Given the description of an element on the screen output the (x, y) to click on. 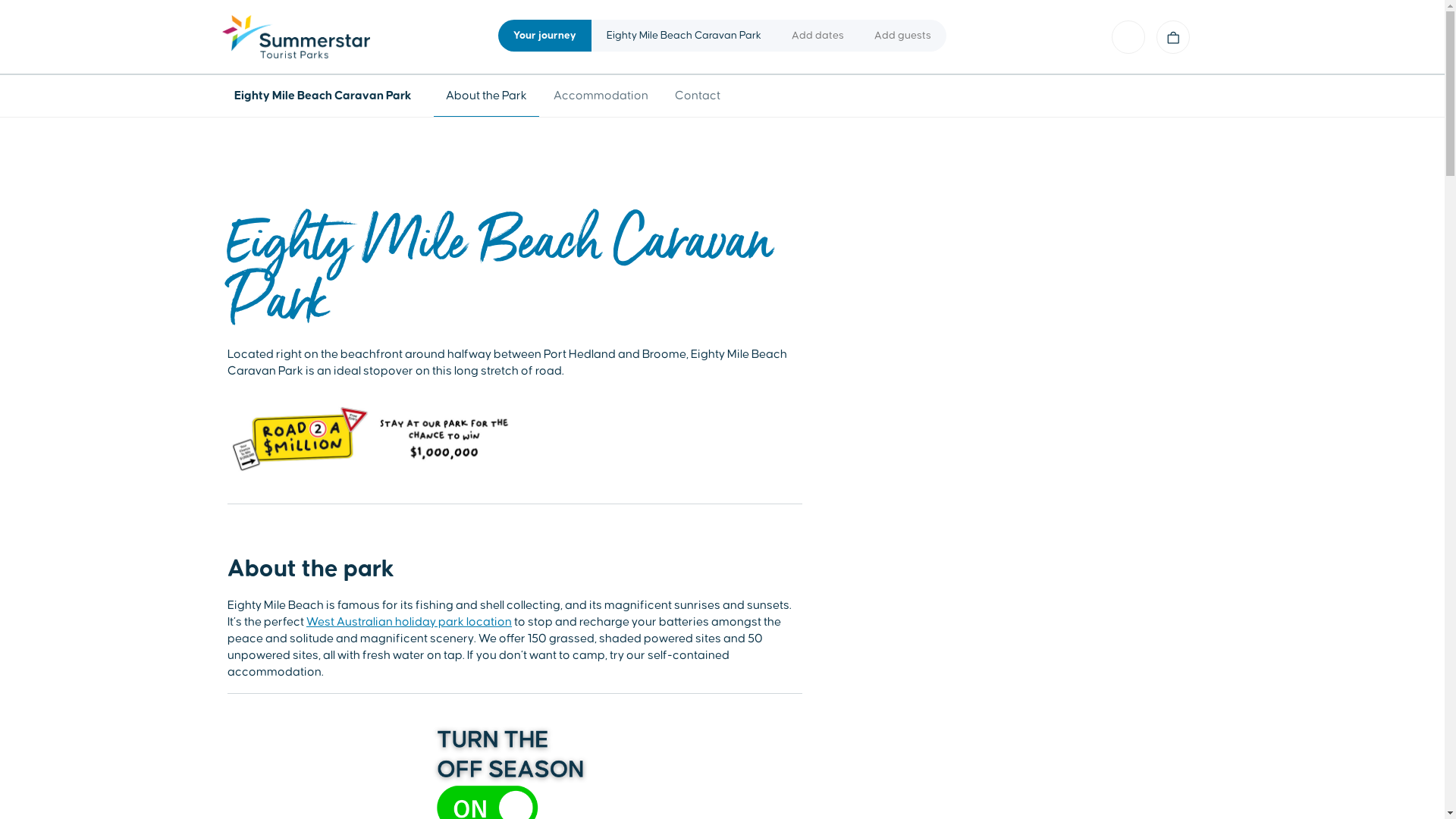
View cart Element type: hover (1172, 36)
About the Park Element type: text (486, 95)
Open menu Element type: hover (1128, 36)
Eighty Mile Beach Caravan Park Element type: text (325, 95)
Contact Element type: text (697, 95)
West Australian holiday park location Element type: text (408, 621)
Accommodation Element type: text (600, 95)
